Given the description of an element on the screen output the (x, y) to click on. 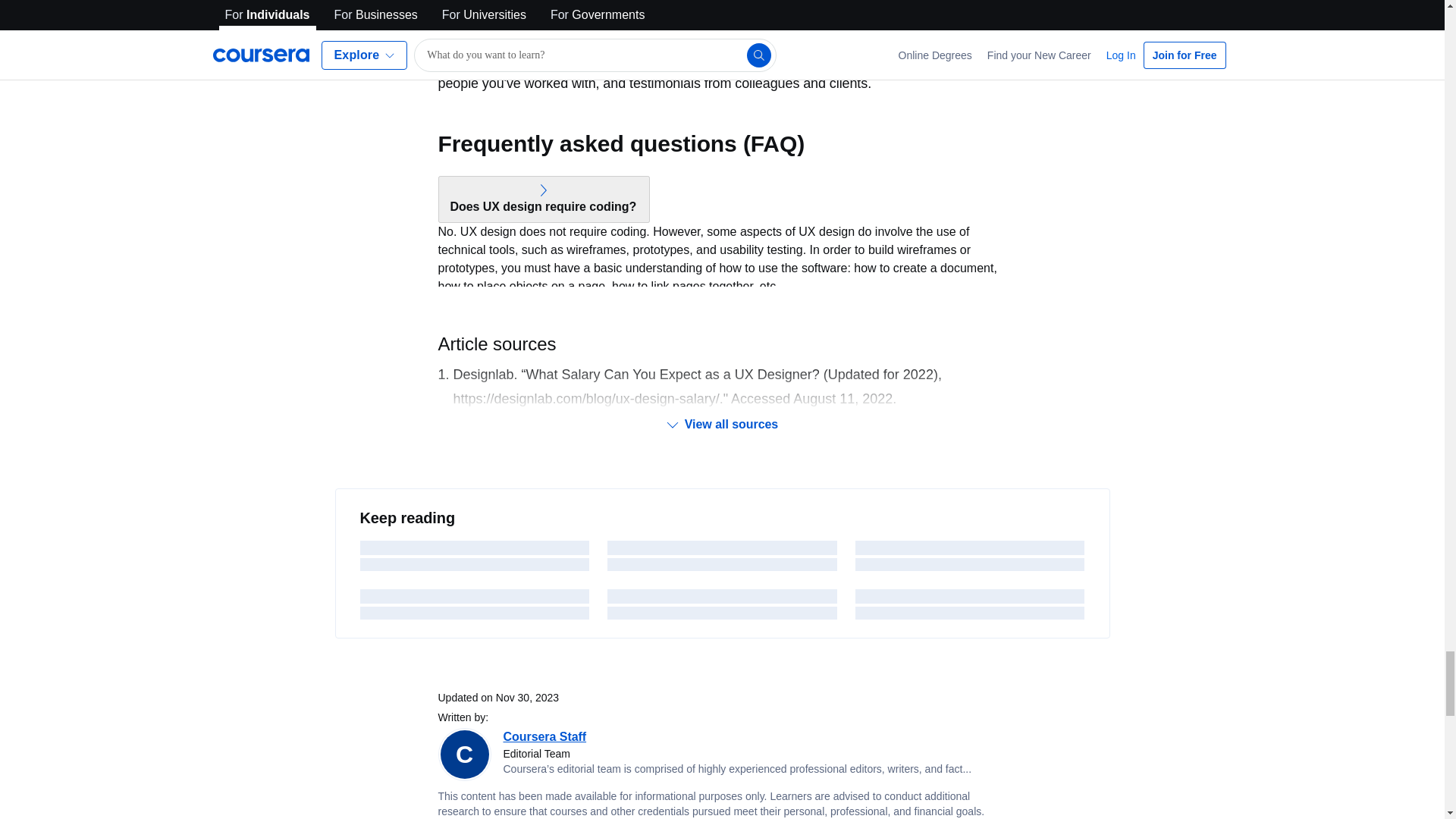
View all sources (722, 424)
Does UX design require coding? (544, 199)
Coursera Staff (544, 736)
